Given the description of an element on the screen output the (x, y) to click on. 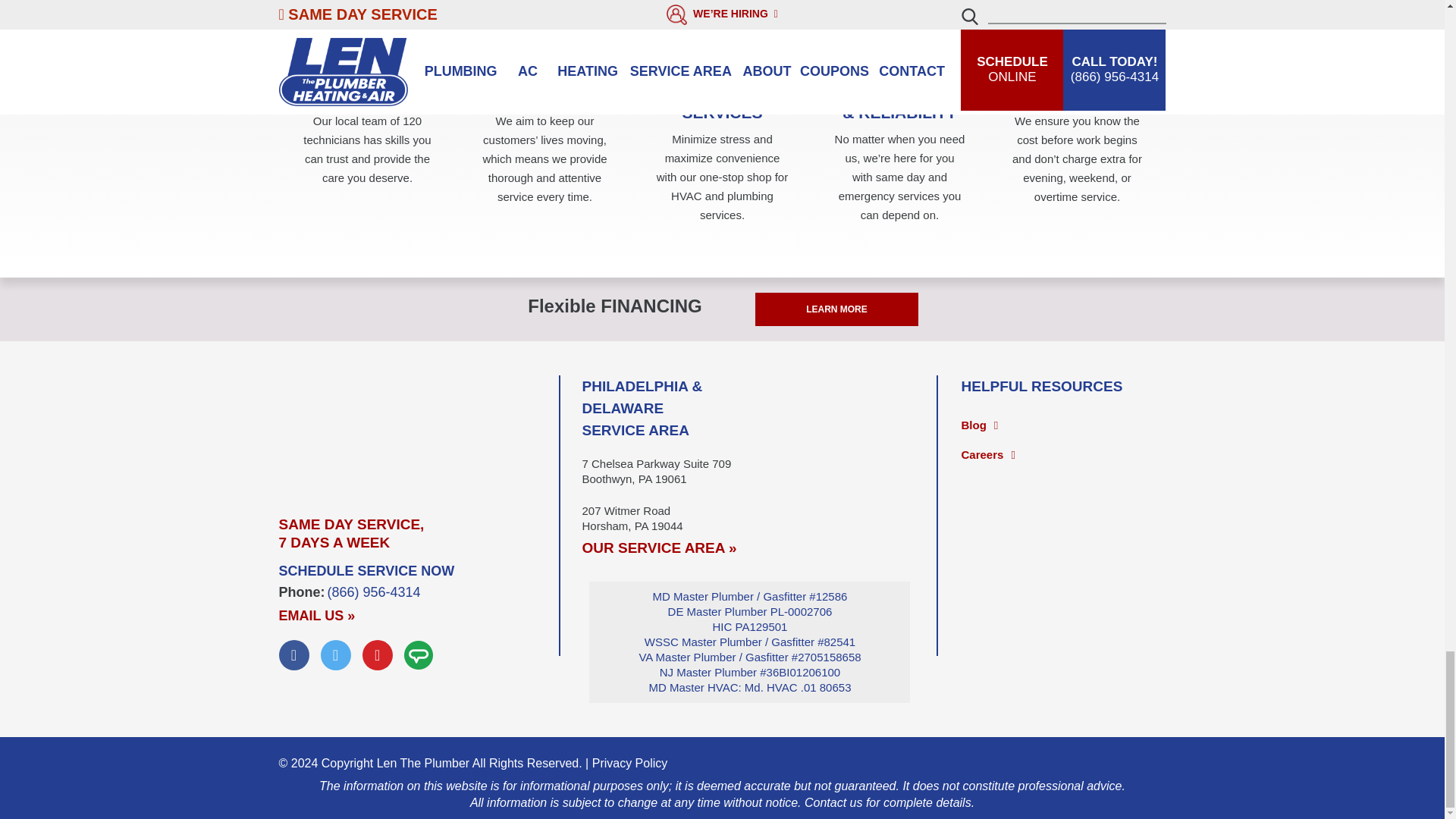
Len The Plumber (419, 431)
Youtube (377, 654)
Twitter (335, 654)
Chat (418, 654)
Phone Number (373, 591)
Facebook (293, 654)
Email us (317, 615)
